Given the description of an element on the screen output the (x, y) to click on. 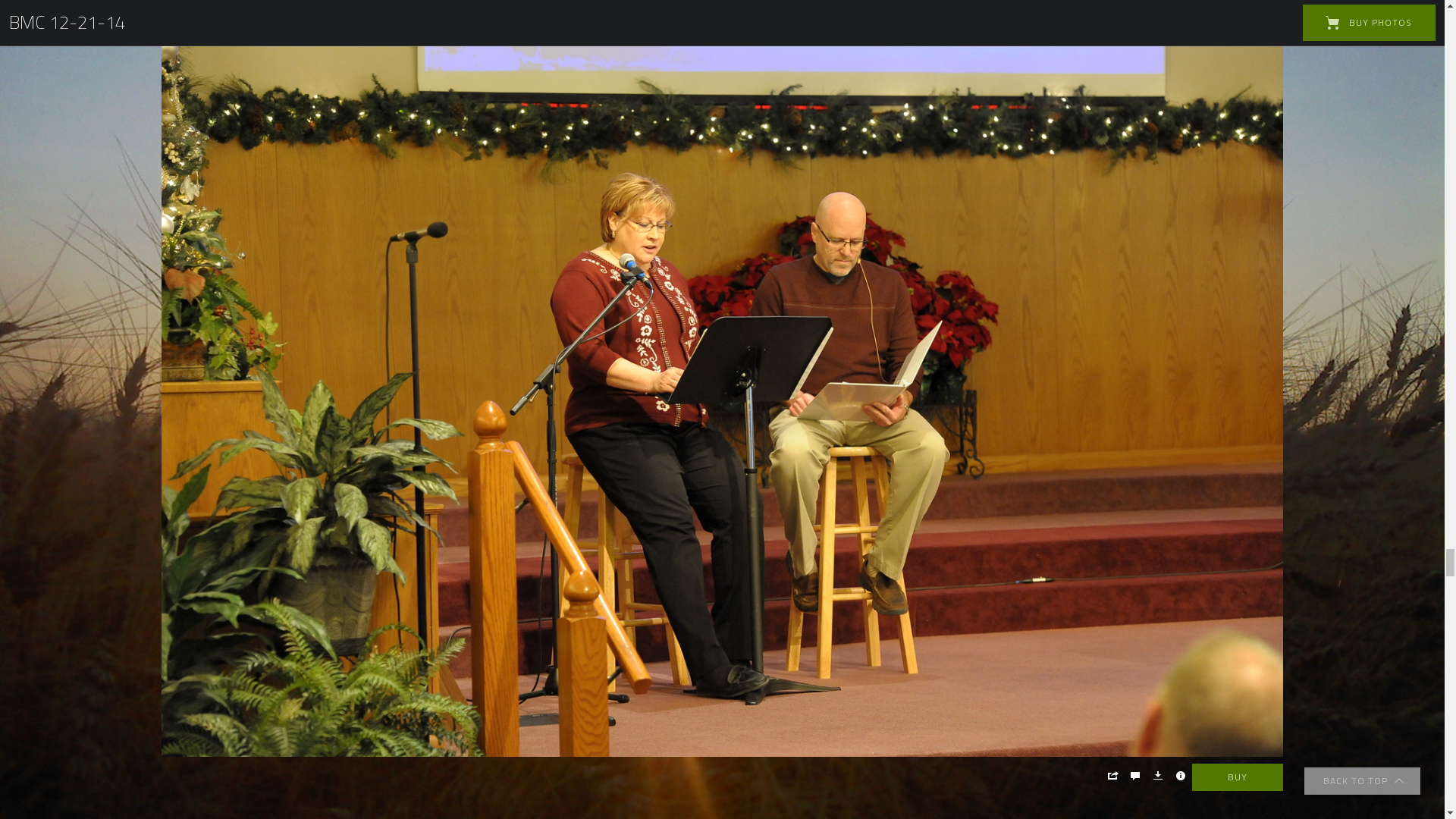
Share Gallery Element type: hover (1210, 294)
Slideshow Element type: hover (1248, 294)
BUY PHOTOS Element type: text (1369, 294)
Download All Element type: hover (1285, 294)
3-Deerphotos Element type: text (721, 120)
Bethel Mennonite Church Element type: text (112, 237)
HOME Element type: text (647, 165)
December 2014 Element type: text (221, 237)
BROWSE Element type: text (715, 165)
Search "BMC 12-21-14" for photos Element type: hover (1369, 22)
SmugMug Element type: hover (59, 22)
SEARCH Element type: text (791, 165)
